Given the description of an element on the screen output the (x, y) to click on. 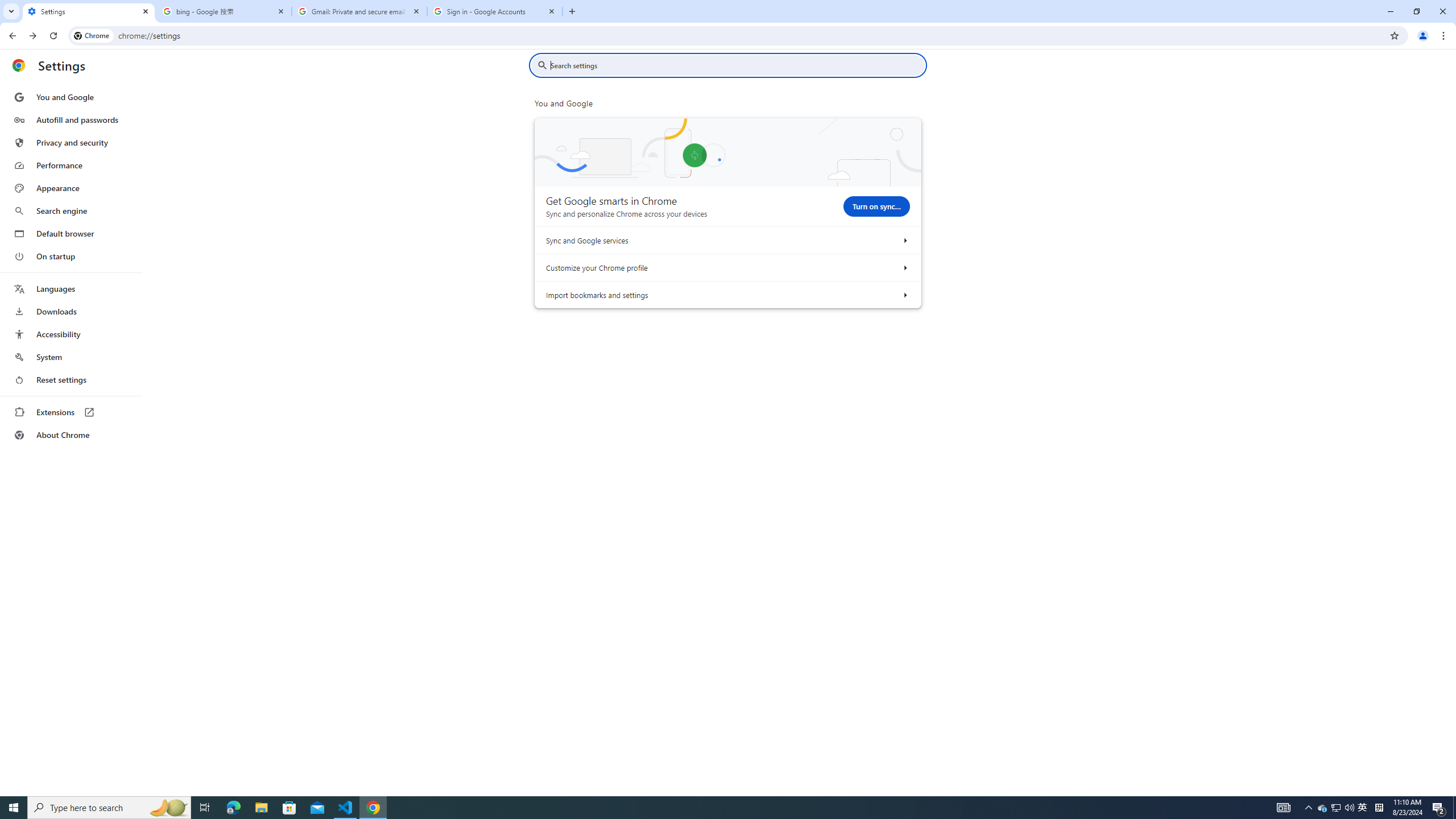
You and Google (70, 96)
On startup (70, 255)
Accessibility (70, 333)
Appearance (70, 187)
Search settings (735, 65)
Languages (70, 288)
Downloads (70, 311)
Performance (70, 164)
